Given the description of an element on the screen output the (x, y) to click on. 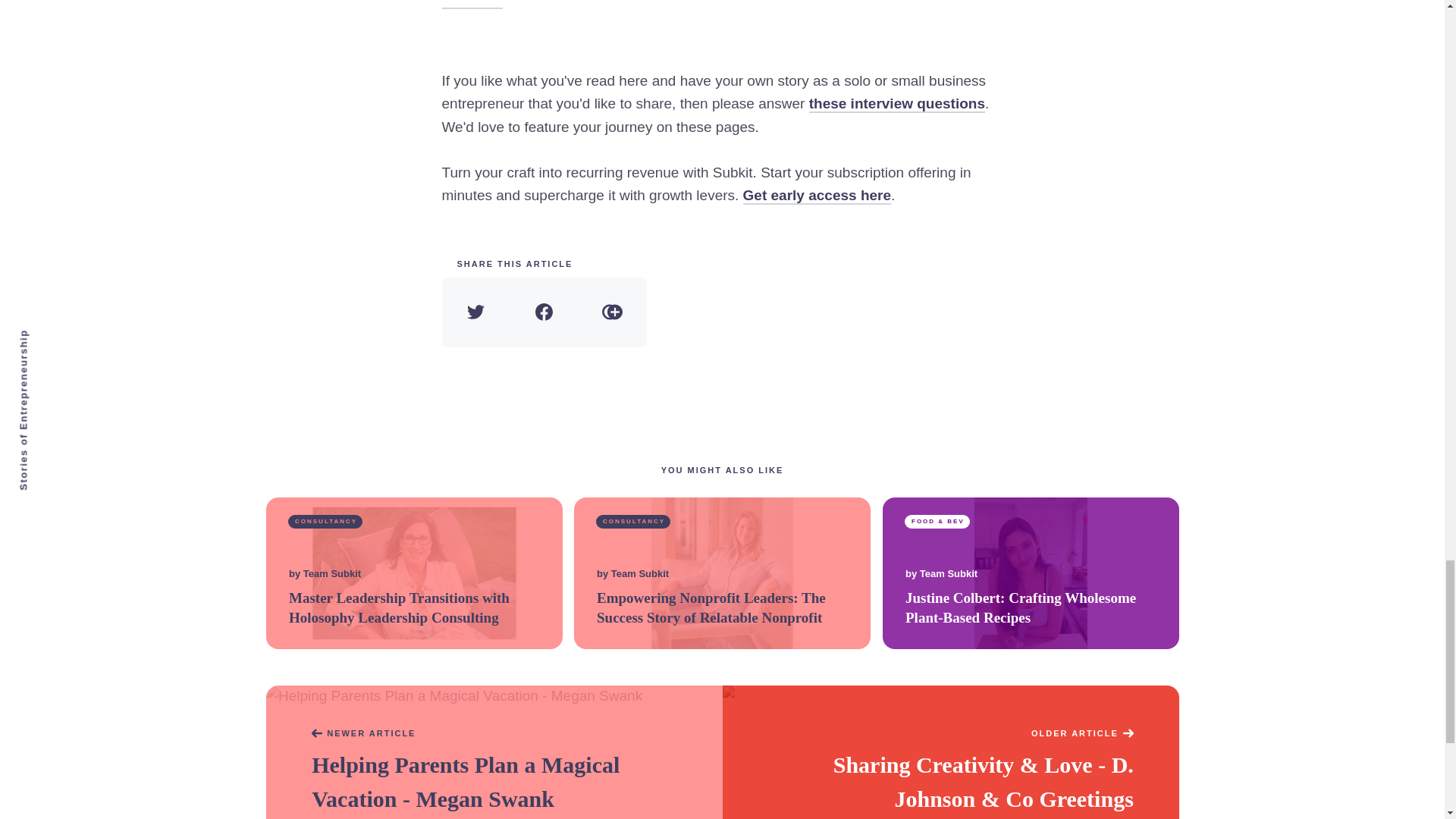
Team Subkit (948, 574)
Get early access here (816, 195)
these interview questions (897, 104)
Team Subkit (639, 574)
Team Subkit (330, 574)
